Given the description of an element on the screen output the (x, y) to click on. 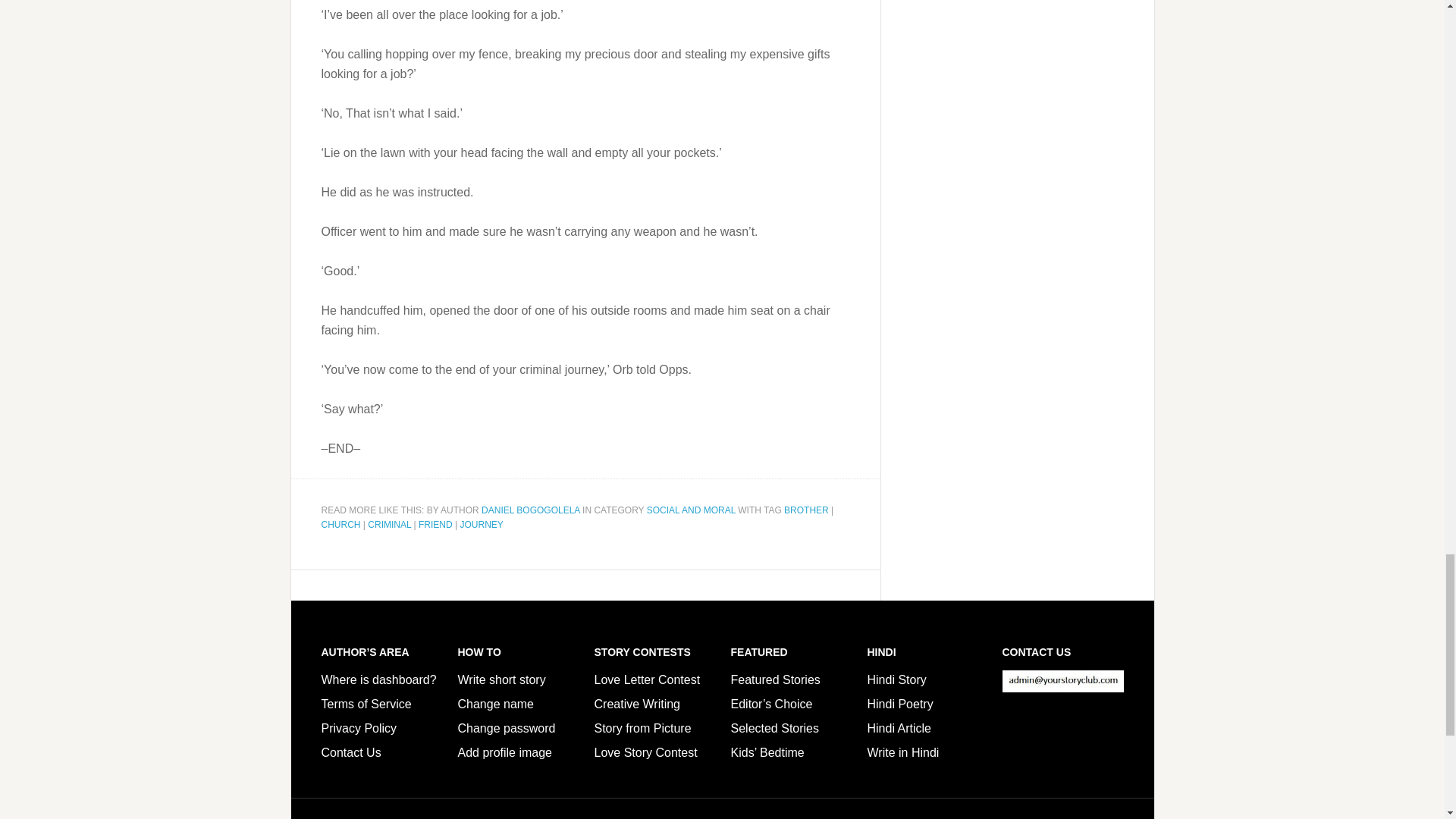
SOCIAL AND MORAL (690, 510)
CRIMINAL (389, 524)
CHURCH (341, 524)
JOURNEY (481, 524)
FRIEND (435, 524)
BROTHER (806, 510)
DANIEL BOGOGOLELA (530, 510)
